Given the description of an element on the screen output the (x, y) to click on. 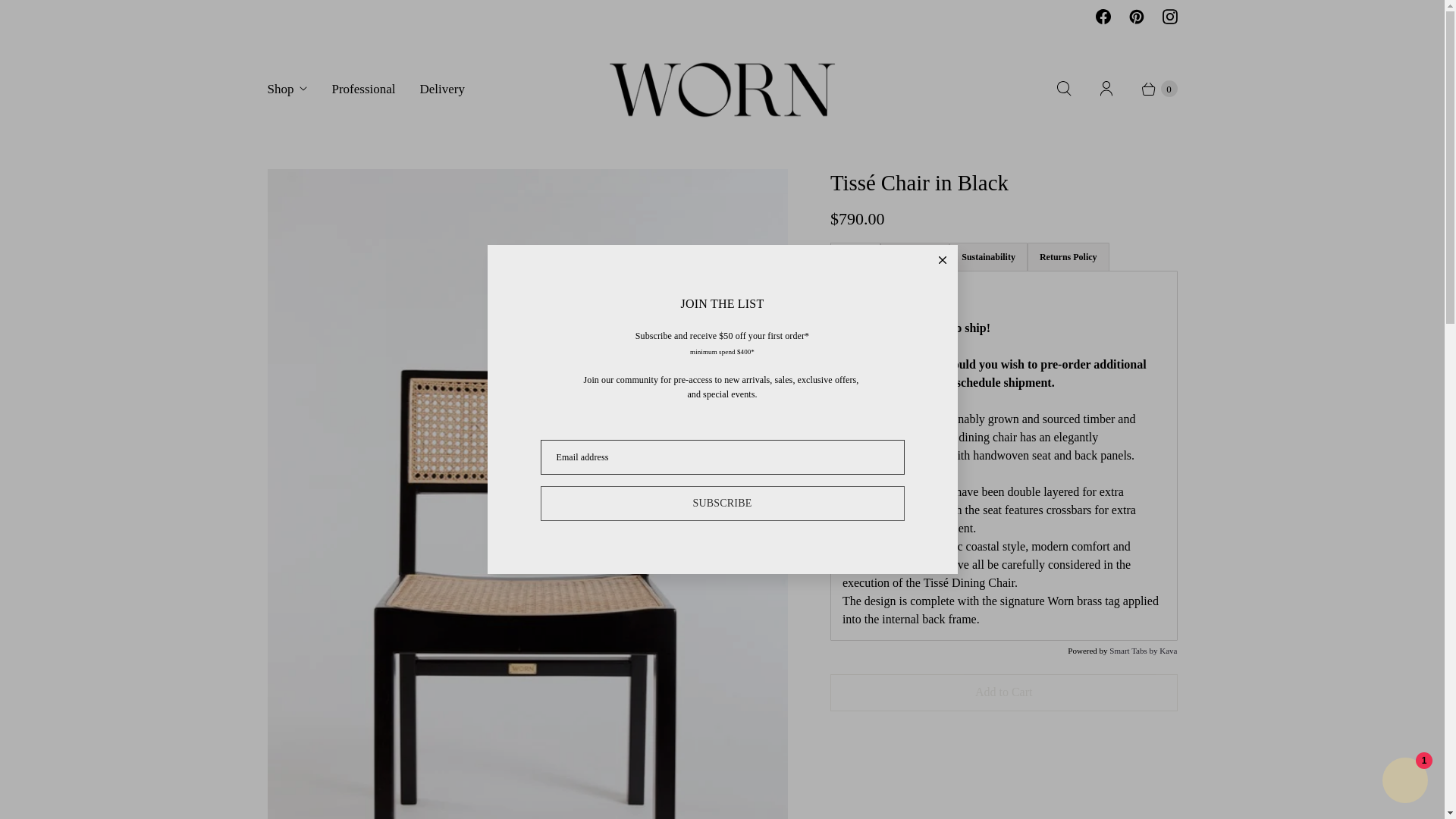
Professional (362, 88)
Shopify online store chat (1404, 781)
0 (1151, 88)
Delivery (442, 88)
